Given the description of an element on the screen output the (x, y) to click on. 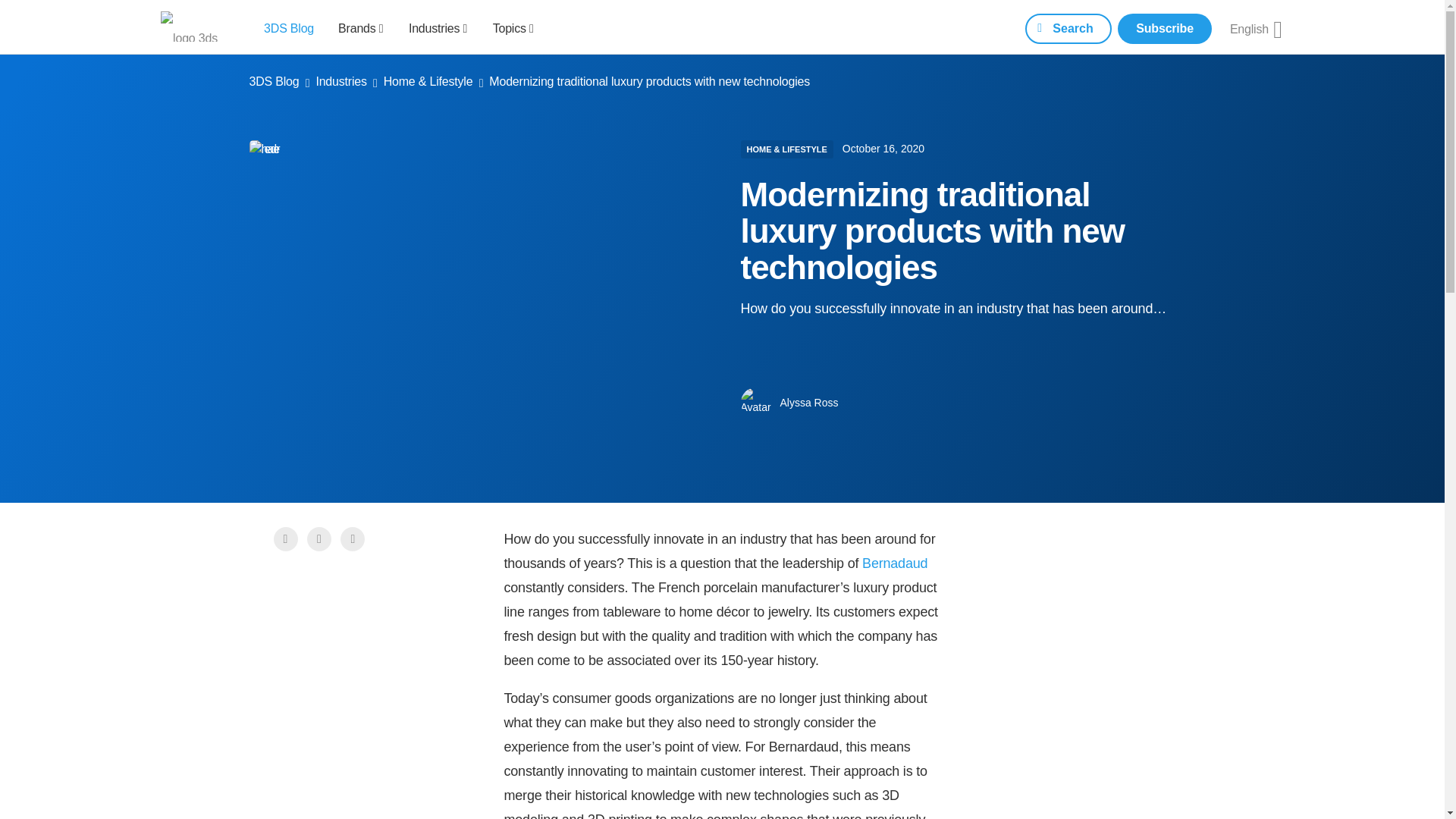
3DS Blog (288, 27)
Share on Facebook (285, 537)
Share on Linkedin (352, 537)
Share on Twitter (319, 537)
Subscribe (1164, 28)
Topics (513, 27)
Industries (438, 27)
Brands (360, 27)
